Given the description of an element on the screen output the (x, y) to click on. 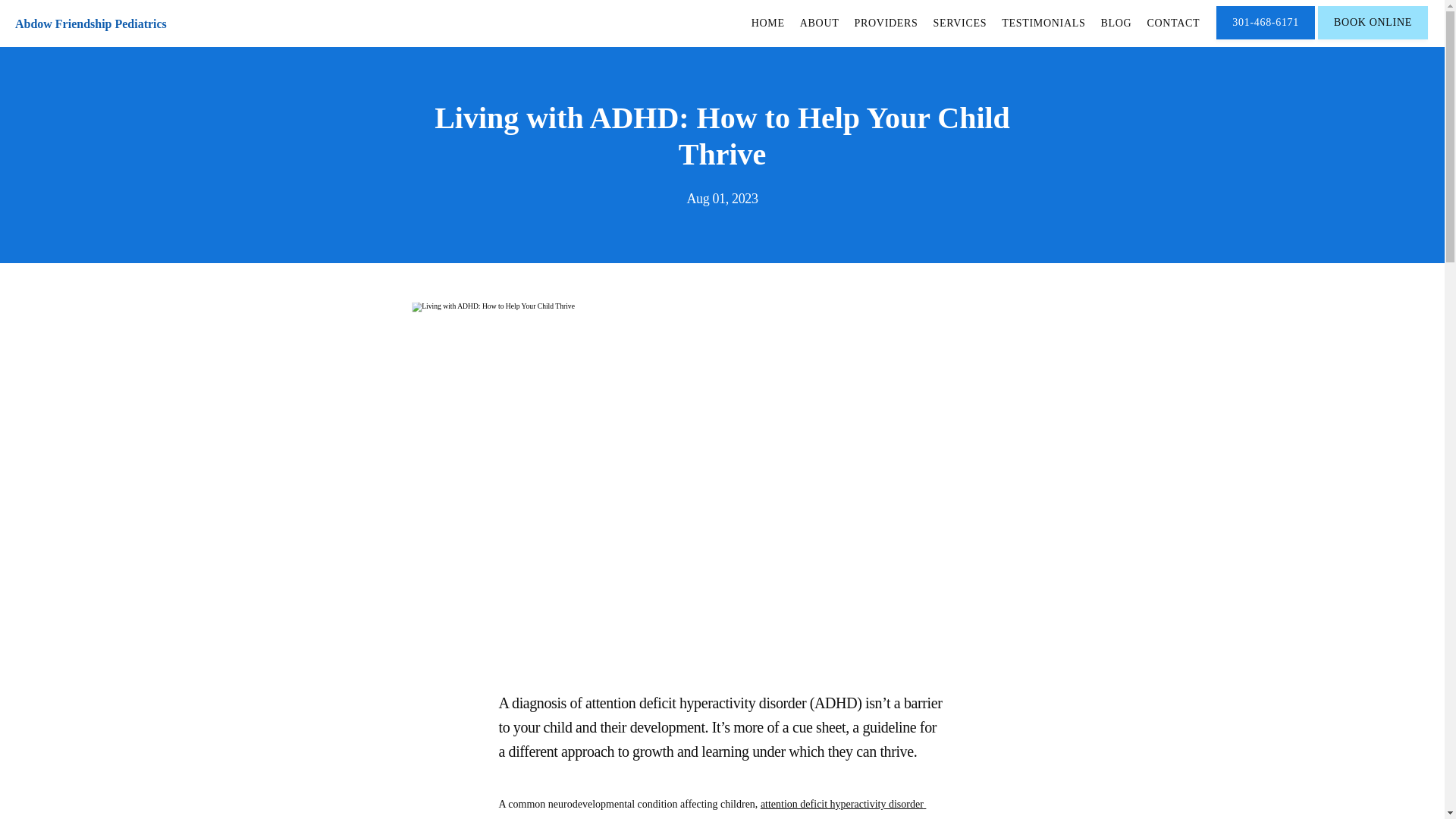
PROVIDERS (885, 22)
CONTACT (1173, 22)
HOME (767, 22)
BOOK ONLINE (1372, 37)
301-468-6171 (1265, 37)
ABOUT (819, 22)
TESTIMONIALS (1042, 22)
BLOG (1115, 22)
Abdow Friendship Pediatrics (90, 23)
SERVICES (960, 22)
